Given the description of an element on the screen output the (x, y) to click on. 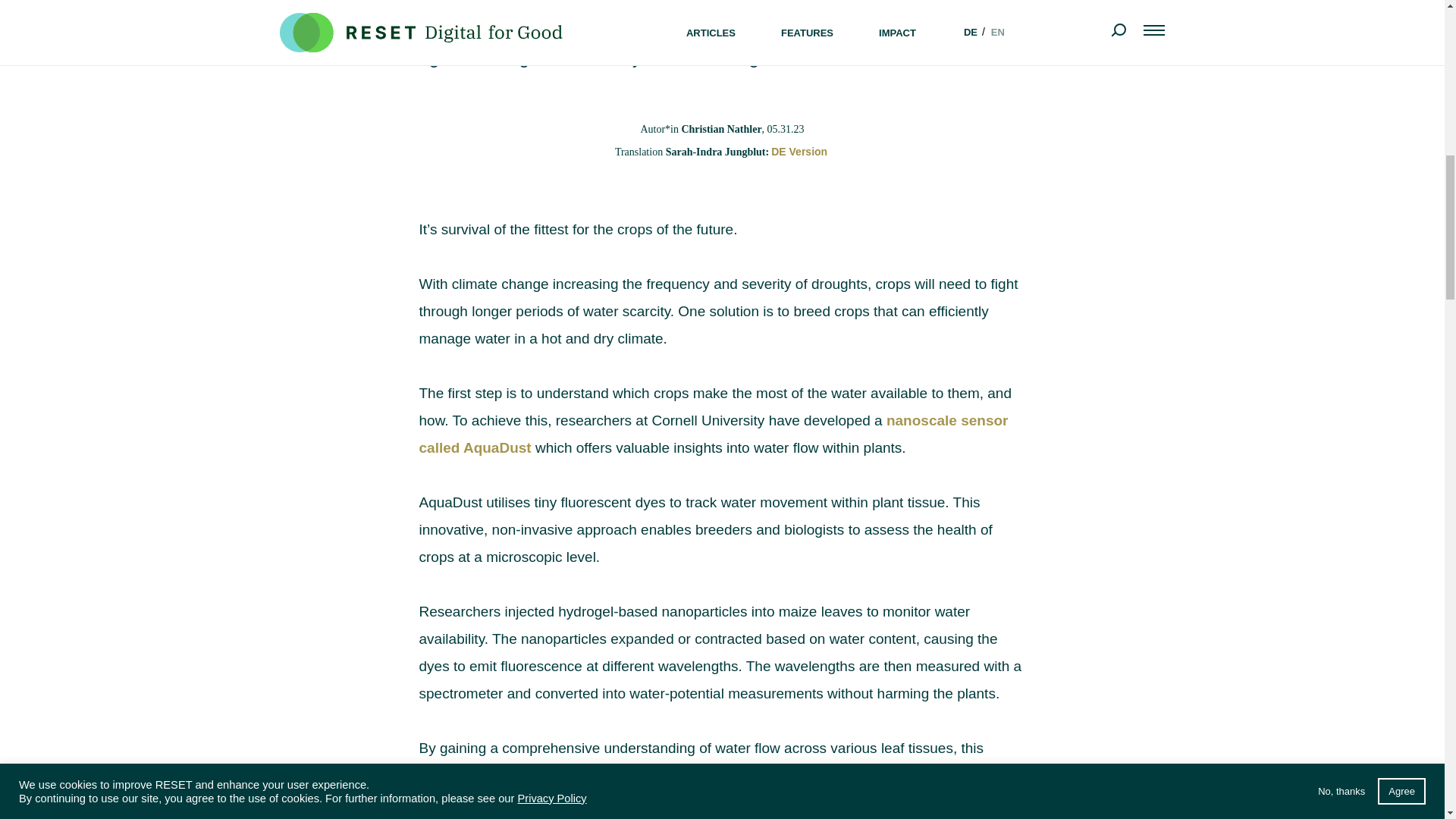
DE (799, 151)
Christian Nathler (721, 129)
nanoscale sensor called AquaDust (713, 433)
